Given the description of an element on the screen output the (x, y) to click on. 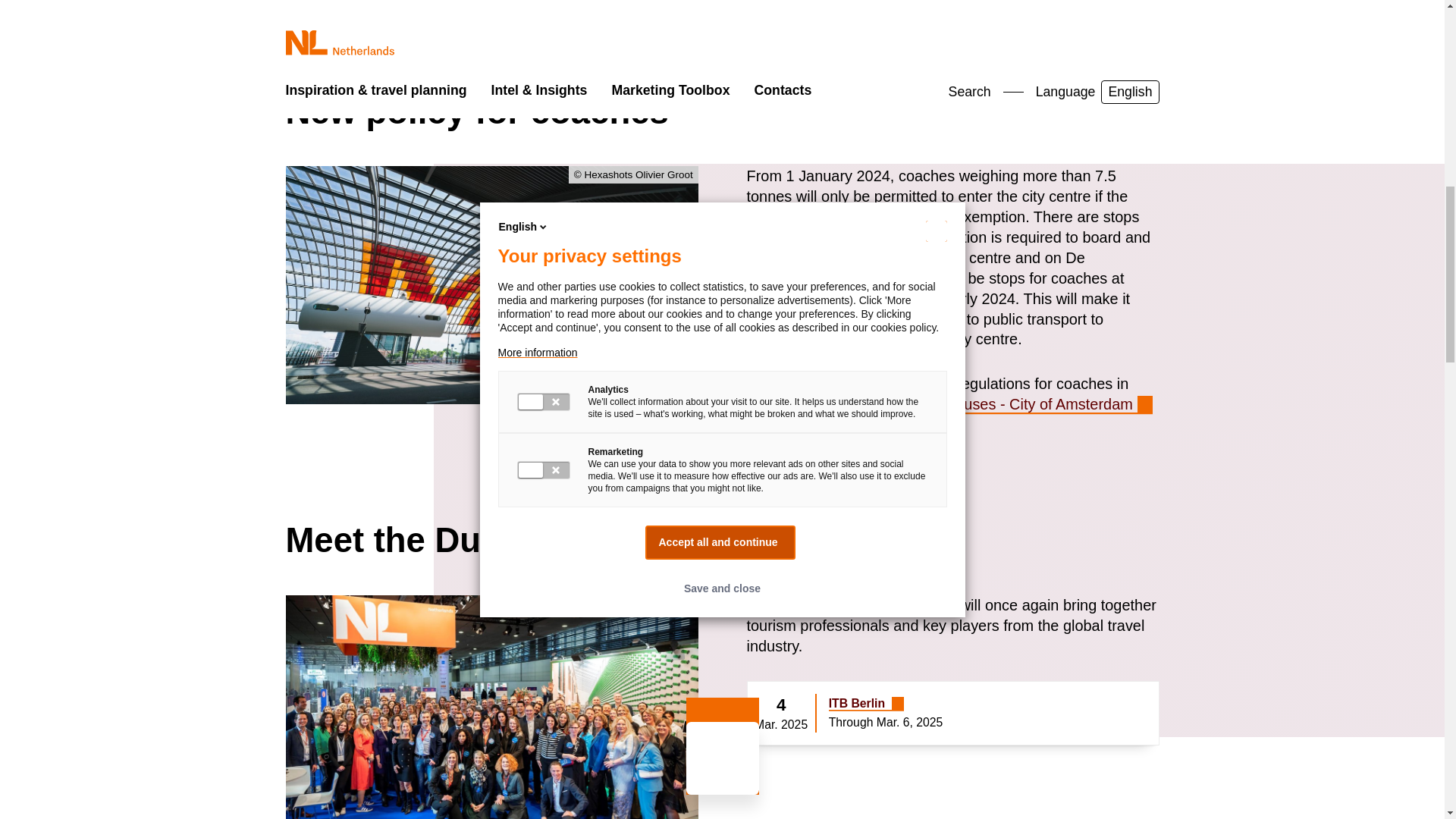
Bus station Amsterdam Centraal (491, 285)
ITB Berlin (866, 703)
ITB 2024 Team Netherlands  (491, 707)
Coaches and tour buses - City of Amsterdam (991, 403)
